Given the description of an element on the screen output the (x, y) to click on. 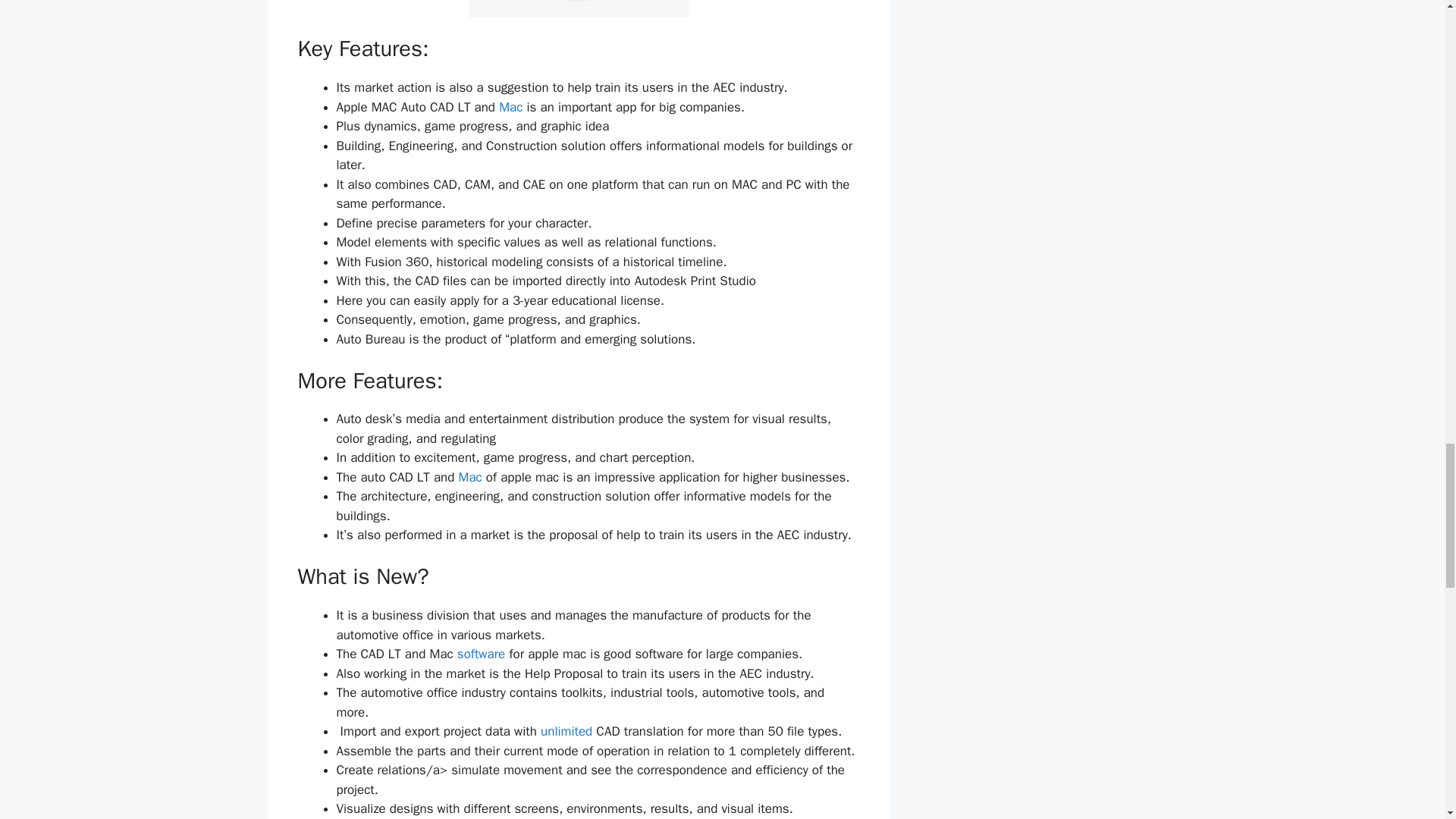
Mac (469, 477)
unlimited (566, 731)
Mac (510, 107)
software (481, 653)
